Given the description of an element on the screen output the (x, y) to click on. 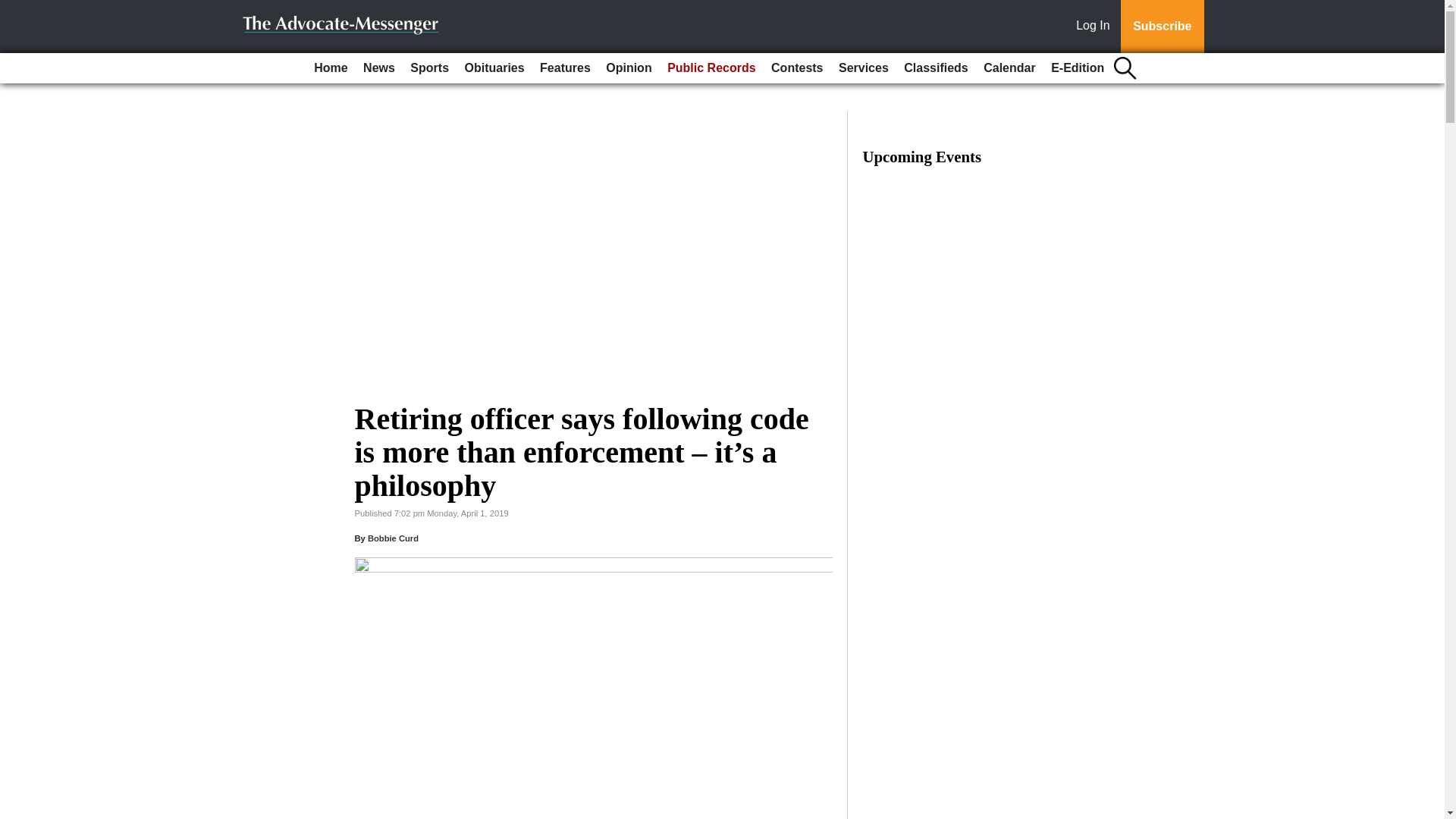
Calendar (1008, 68)
Sports (429, 68)
Bobbie Curd (393, 537)
Opinion (628, 68)
Public Records (711, 68)
Classifieds (936, 68)
Subscribe (1162, 26)
E-Edition (1077, 68)
Home (330, 68)
News (378, 68)
Log In (1095, 26)
Features (565, 68)
Obituaries (493, 68)
Go (13, 9)
Services (863, 68)
